Given the description of an element on the screen output the (x, y) to click on. 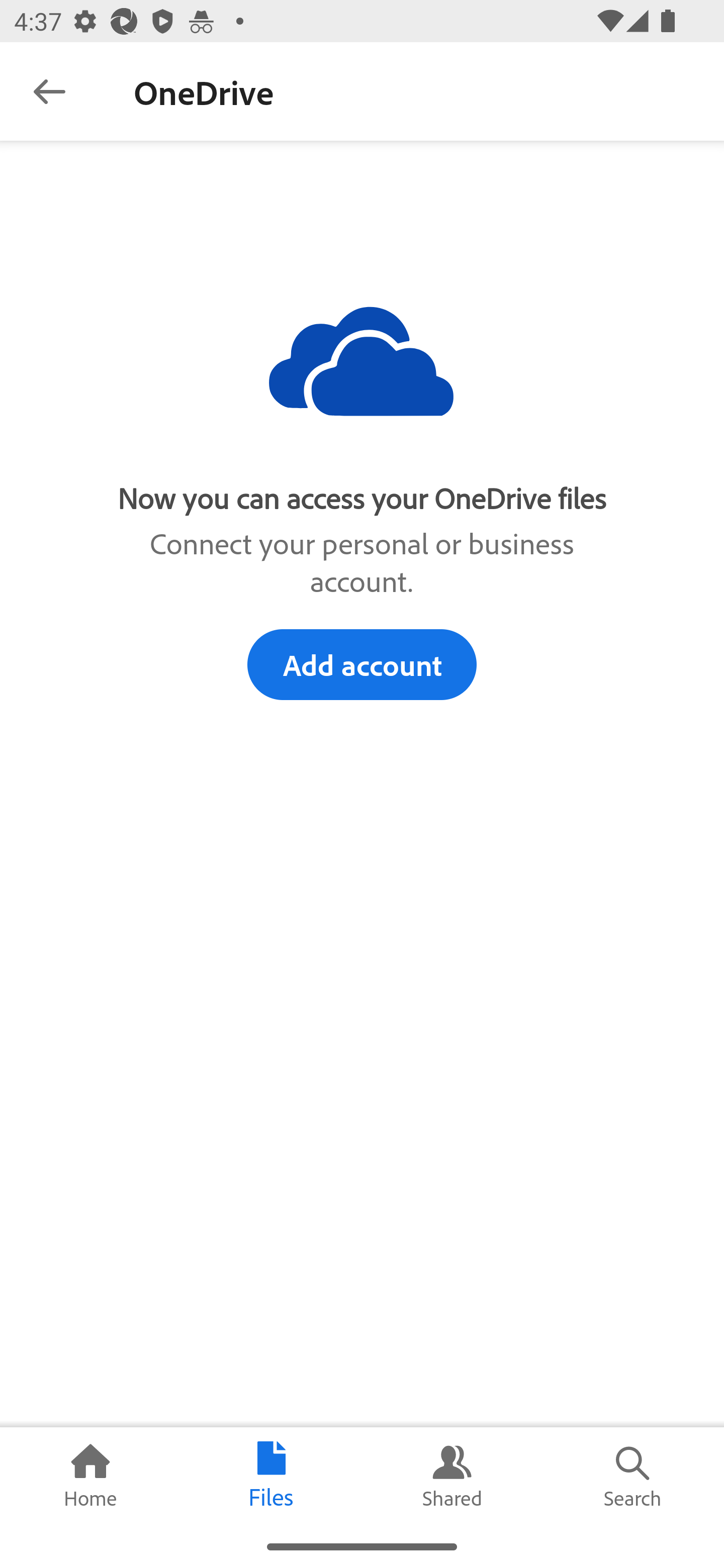
Navigate up (49, 91)
Add account (361, 663)
Home (90, 1475)
Files (271, 1475)
Shared (452, 1475)
Search (633, 1475)
